Given the description of an element on the screen output the (x, y) to click on. 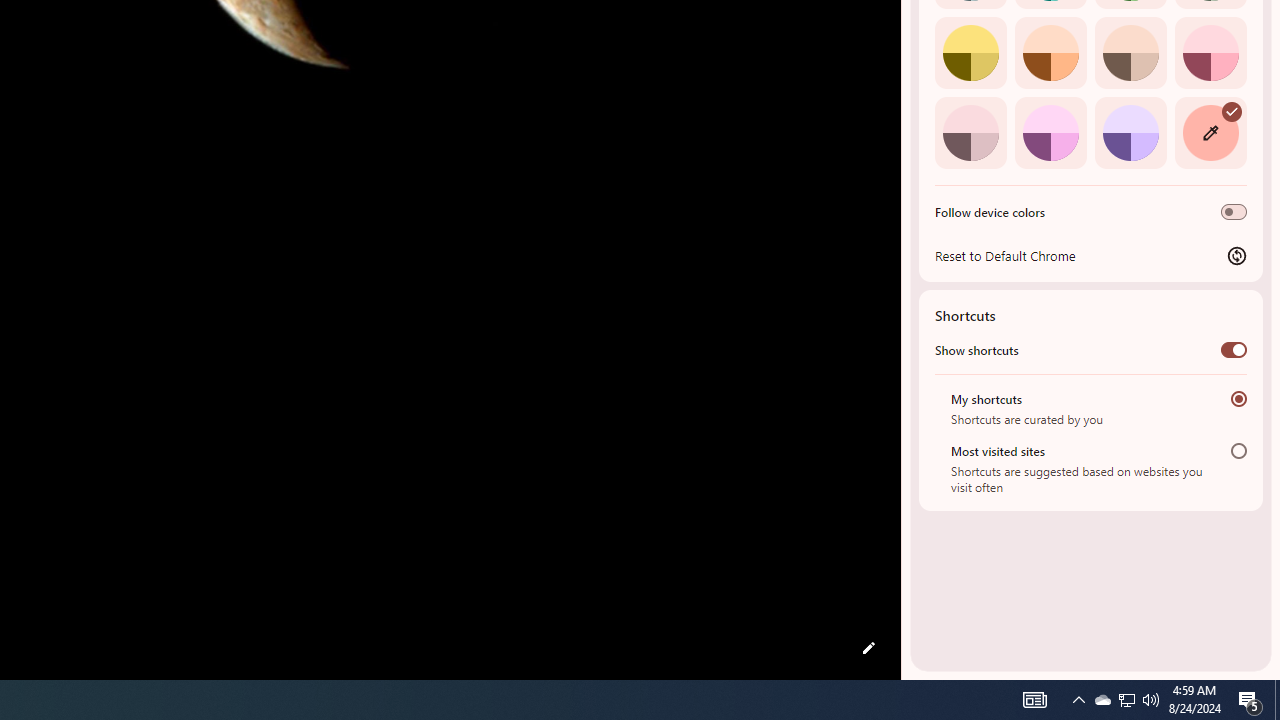
Fuchsia (1050, 132)
Custom color (1210, 132)
My shortcuts (1238, 398)
Follow device colors (1233, 211)
Citron (970, 52)
Orange (1050, 52)
Most visited sites (1238, 450)
Apricot (1130, 52)
Violet (1130, 132)
Reset to Default Chrome (1091, 255)
Show shortcuts (1233, 349)
Rose (1210, 52)
Customize this page (868, 647)
Pink (970, 132)
